Given the description of an element on the screen output the (x, y) to click on. 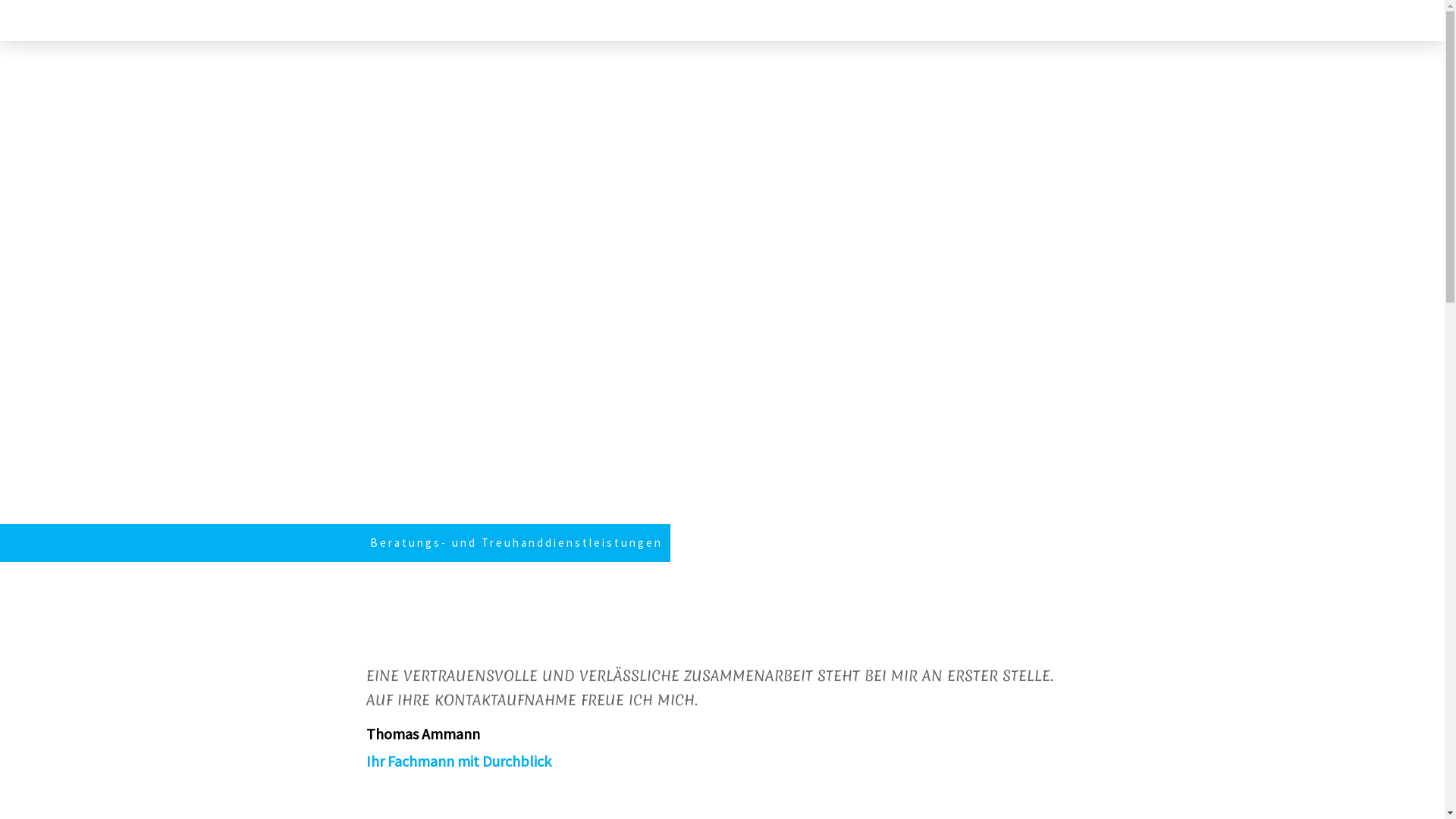
Beratungs- und Treuhanddienstleistungen Element type: text (516, 542)
